Given the description of an element on the screen output the (x, y) to click on. 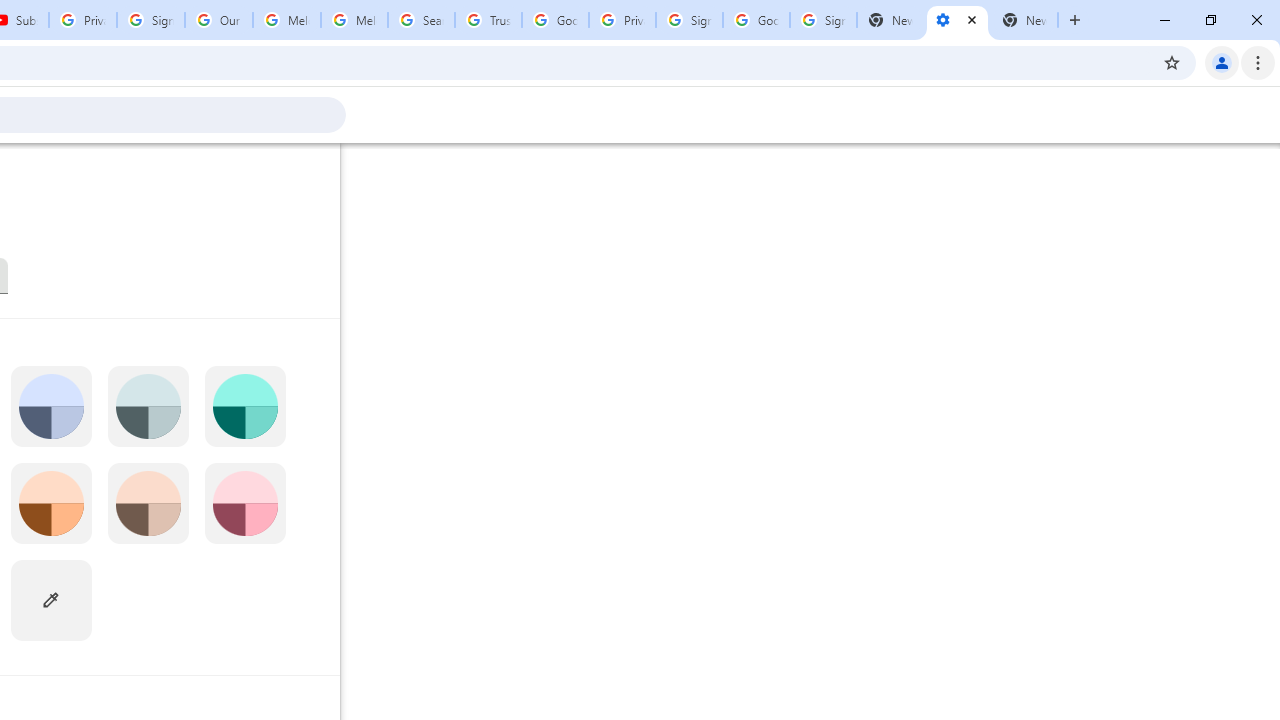
New Tab (1024, 20)
Search our Doodle Library Collection - Google Doodles (420, 20)
Sign in - Google Accounts (823, 20)
Trusted Information and Content - Google Safety Center (488, 20)
